Given the description of an element on the screen output the (x, y) to click on. 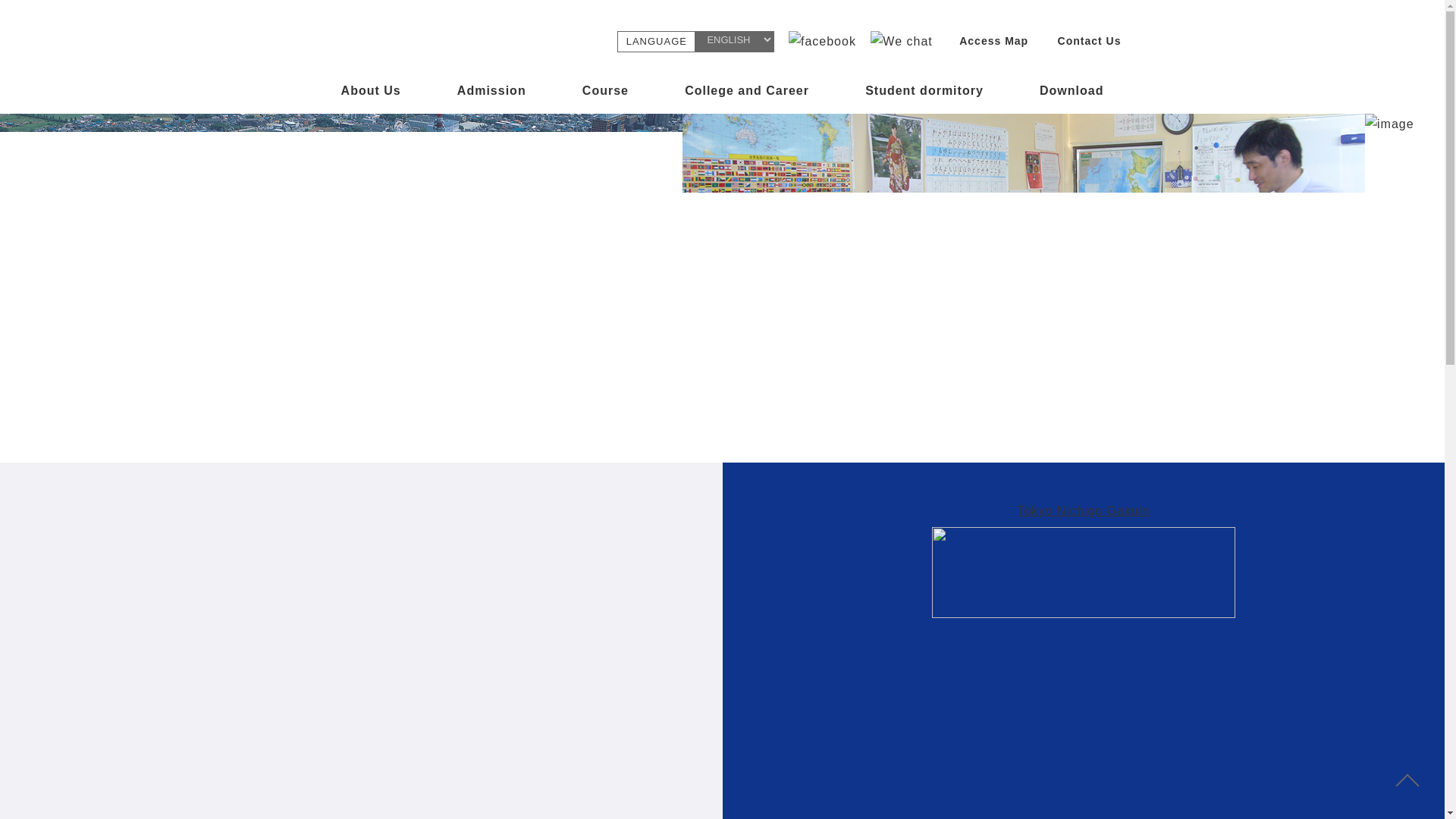
Contact Us (1089, 40)
About Us (370, 94)
Admission (491, 94)
College and Career (746, 94)
Student dormitory (924, 94)
Download (1071, 94)
Course (605, 94)
student dormitory (924, 94)
College and Career (746, 94)
Download  (1071, 94)
